Given the description of an element on the screen output the (x, y) to click on. 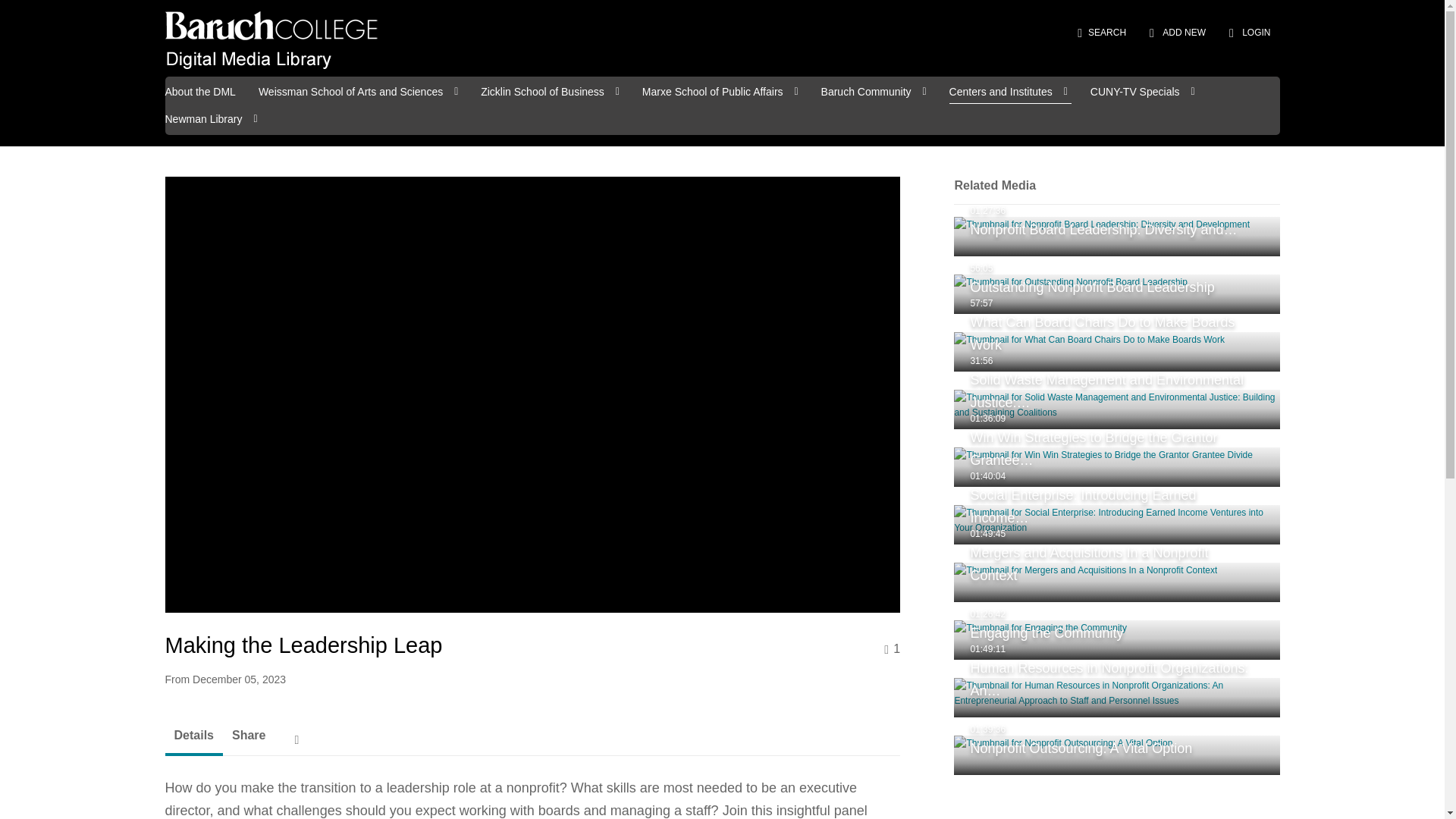
SEARCH (1101, 31)
Weissman School of Arts and Sciences (360, 90)
LOGIN (1249, 31)
About the DML (200, 90)
Mergers and Acquisitions In a Nonprofit Context (1116, 581)
What Can Board Chairs Do to Make Boards Work (1116, 351)
Nonprofit Outsourcing: A Vital Option (1116, 754)
